Given the description of an element on the screen output the (x, y) to click on. 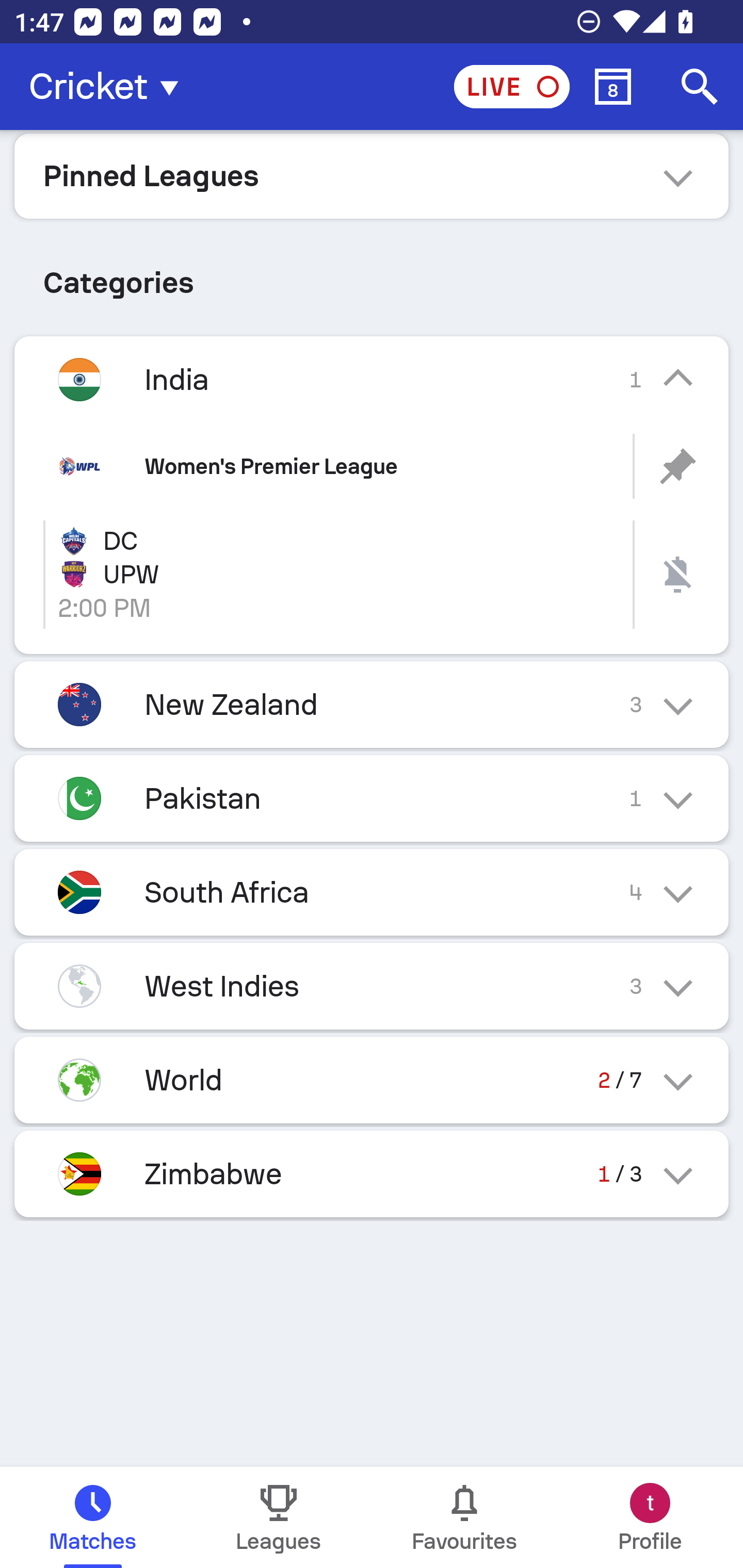
Cricket (109, 86)
Calendar (612, 86)
Search (699, 86)
Pinned Leagues (371, 175)
Categories (371, 275)
India 1 (371, 379)
Women's Premier League (371, 466)
DC UPW 2:00 PM (371, 574)
New Zealand 3 (371, 704)
Pakistan 1 (371, 798)
South Africa 4 (371, 892)
West Indies 3 (371, 986)
World 2 / 7 (371, 1079)
Zimbabwe 1 / 3 (371, 1173)
Leagues (278, 1517)
Favourites (464, 1517)
Profile (650, 1517)
